Given the description of an element on the screen output the (x, y) to click on. 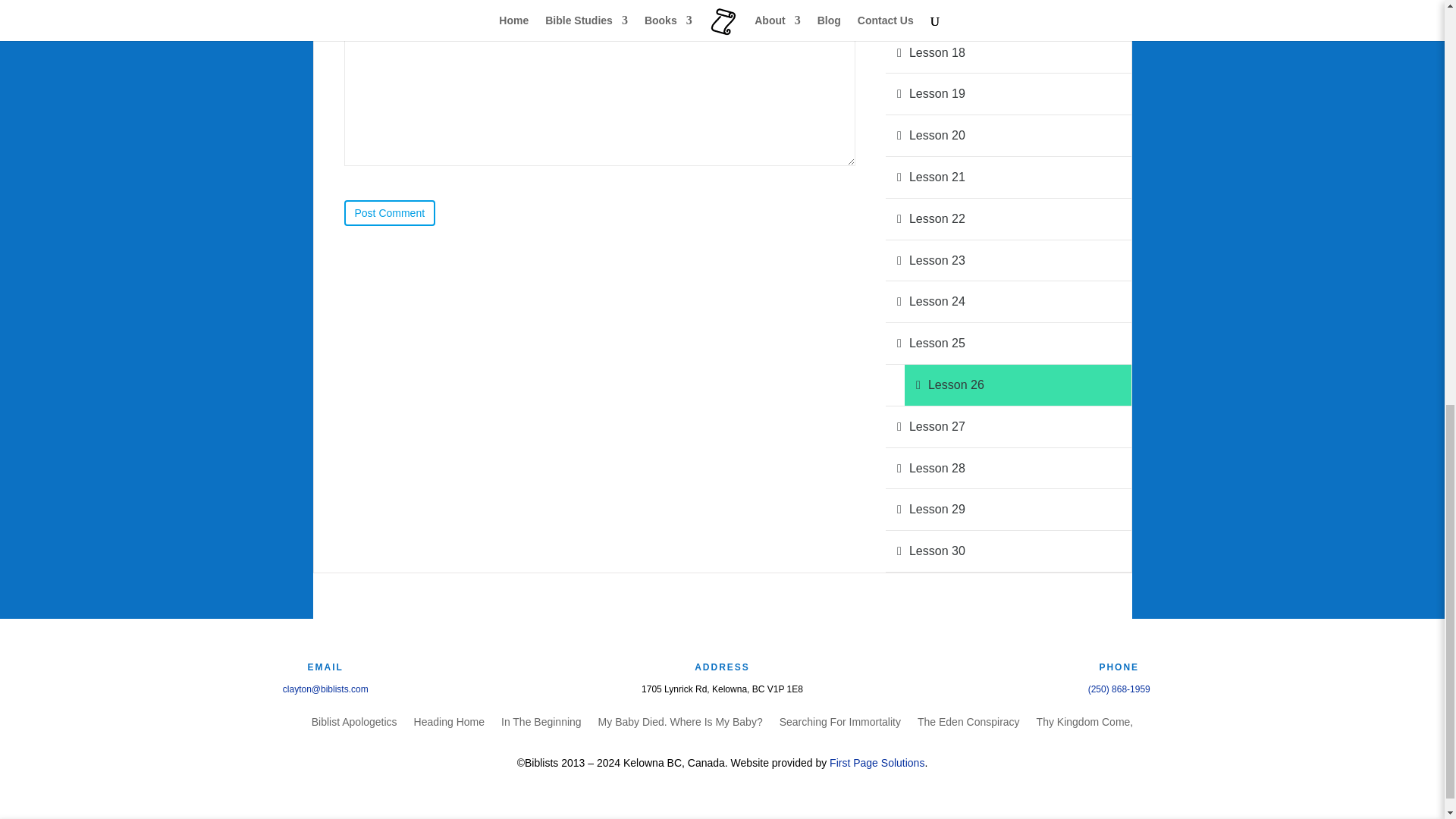
First Page Solutions (876, 762)
